Given the description of an element on the screen output the (x, y) to click on. 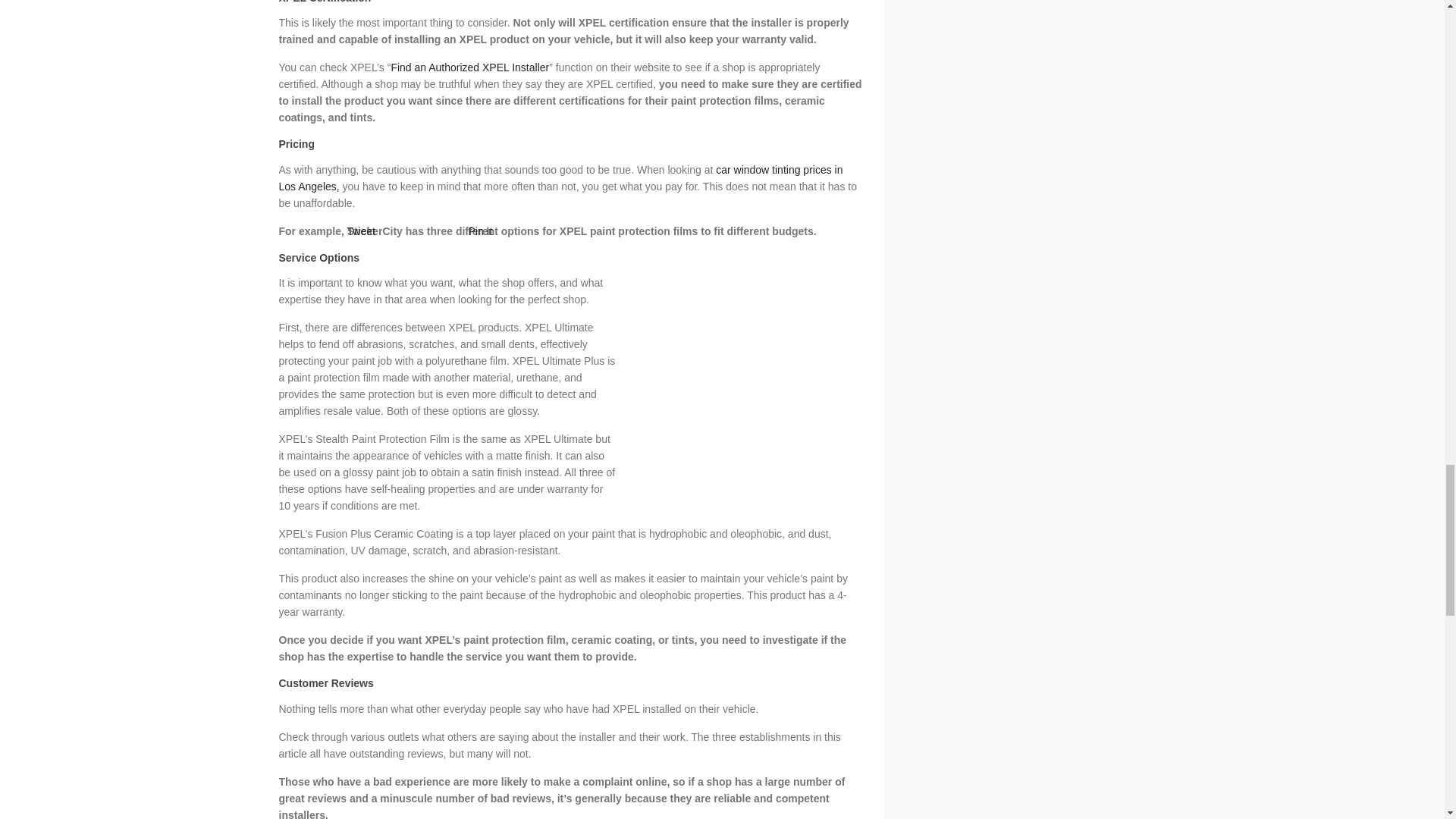
Find an Authorized XPEL Installer (469, 67)
car window tinting prices in Los Angeles, (561, 177)
